Given the description of an element on the screen output the (x, y) to click on. 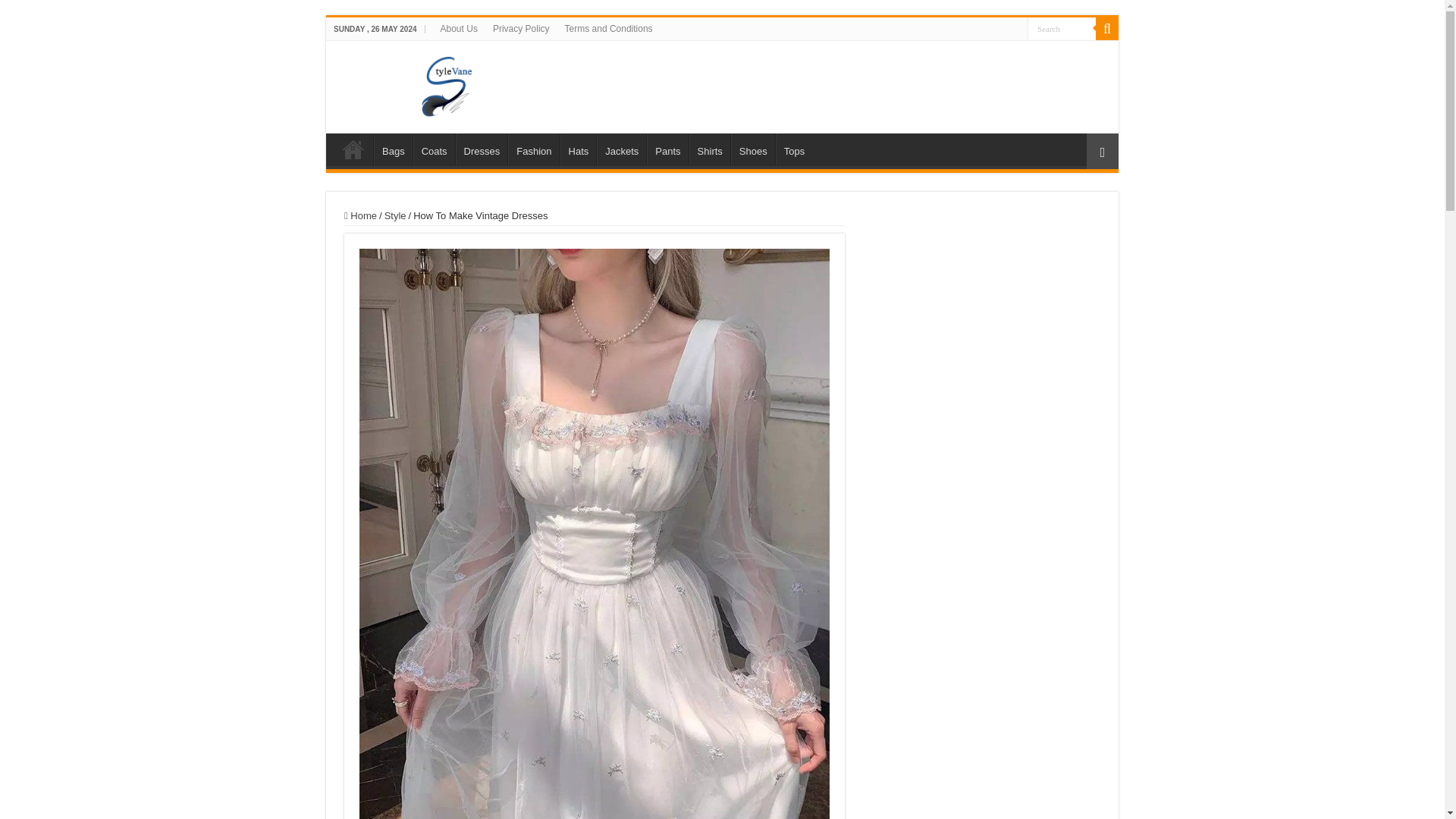
Tops (794, 149)
Shirts (709, 149)
Privacy Policy (520, 28)
Hats (578, 149)
Pants (666, 149)
Search (1061, 28)
Search (1061, 28)
Coats (433, 149)
Fashion (533, 149)
Search (1107, 28)
Home (360, 215)
Terms and Conditions (609, 28)
Jackets (621, 149)
Style (395, 215)
Shoes (752, 149)
